Given the description of an element on the screen output the (x, y) to click on. 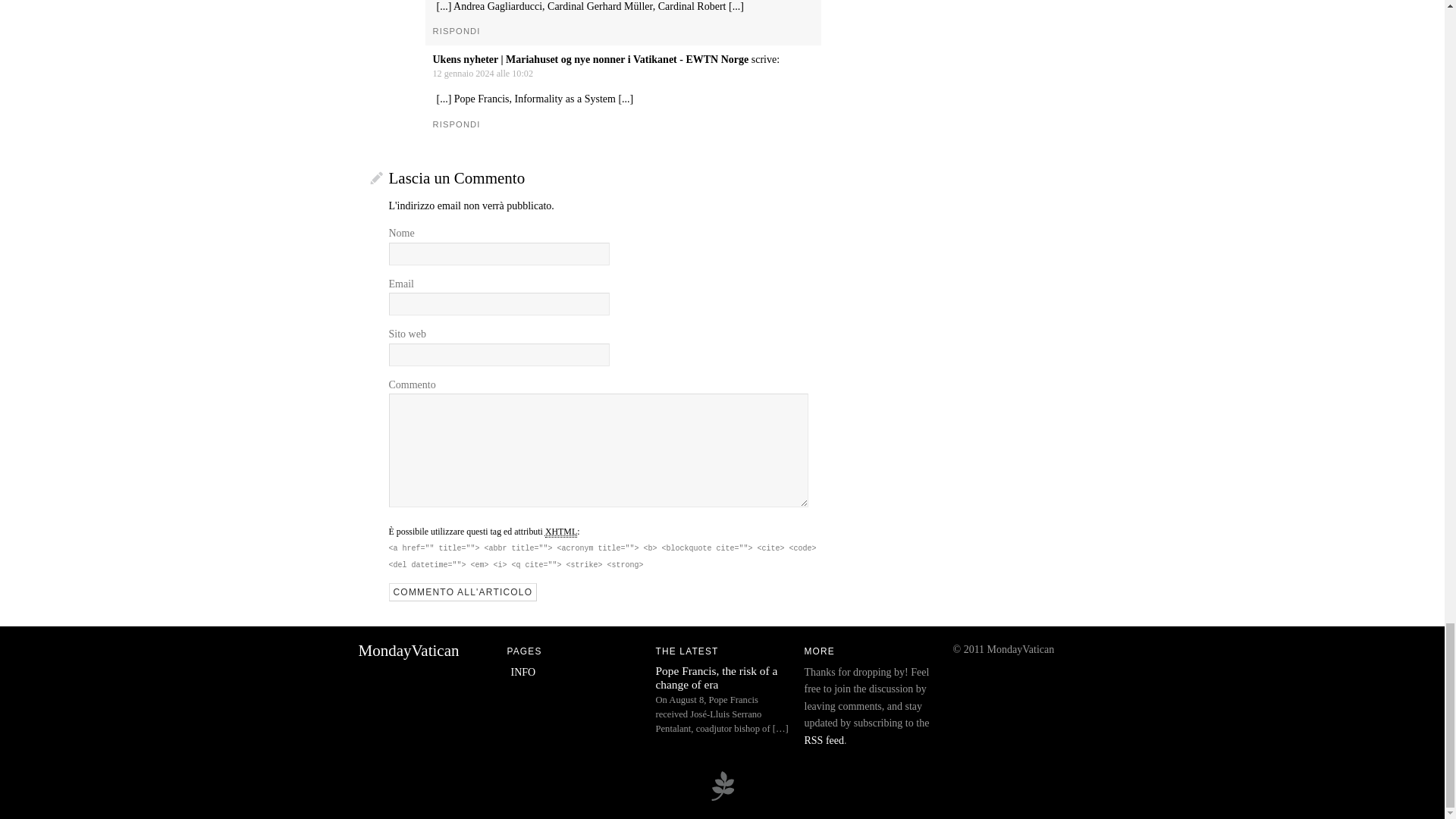
Commento all'articolo (462, 592)
RISPONDI (456, 123)
RISPONDI (456, 31)
eXtensible HyperText Markup Language (560, 531)
12 gennaio 2024 alle 10:02 (482, 72)
Commento all'articolo (462, 592)
